Given the description of an element on the screen output the (x, y) to click on. 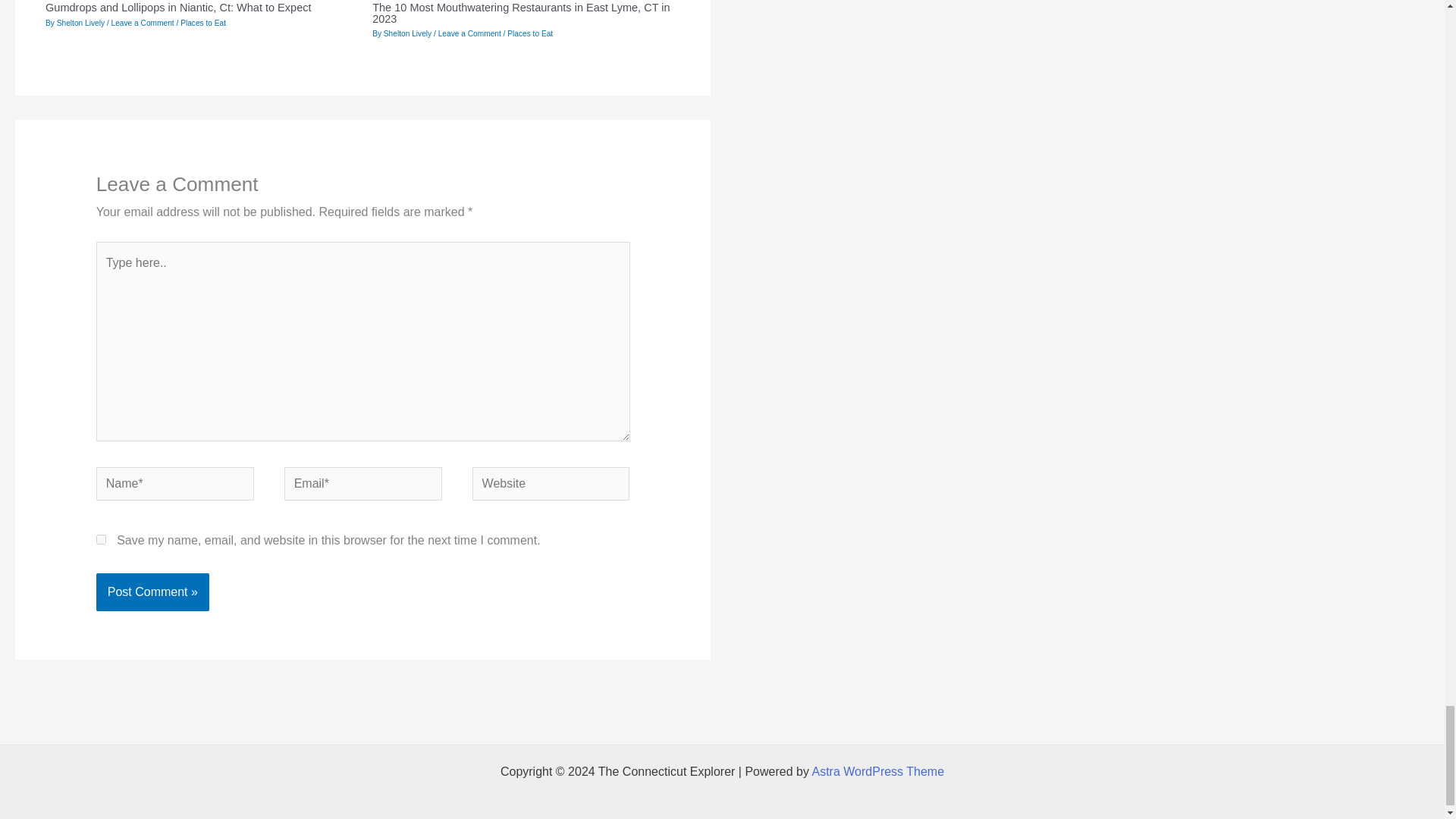
View all posts by Shelton Lively (81, 22)
yes (101, 539)
Gumdrops and Lollipops in Niantic, Ct: What to Expect (178, 7)
View all posts by Shelton Lively (408, 33)
Shelton Lively (81, 22)
